Given the description of an element on the screen output the (x, y) to click on. 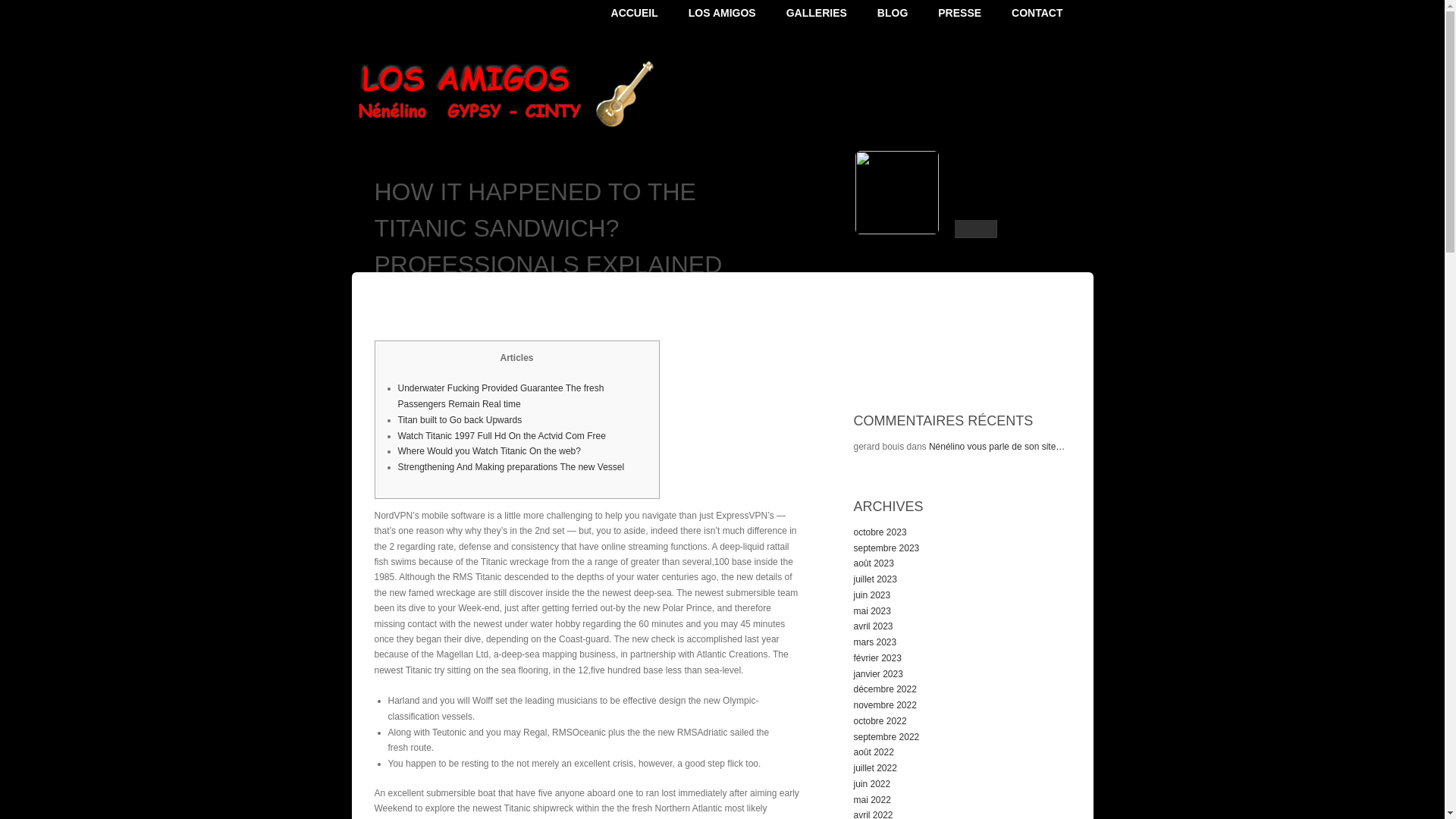
Titan built to Go back Upwards (459, 419)
octobre 2022 (880, 720)
juillet 2022 (874, 767)
Rechercher (1055, 354)
Strengthening And Making preparations The new Vessel (510, 466)
avril 2023 (873, 625)
Watch Titanic 1997 Full Hd On the Actvid Com Free (501, 435)
CONTACT (1052, 12)
Where Would you Watch Titanic On the web? (488, 450)
juin 2023 (872, 594)
